Given the description of an element on the screen output the (x, y) to click on. 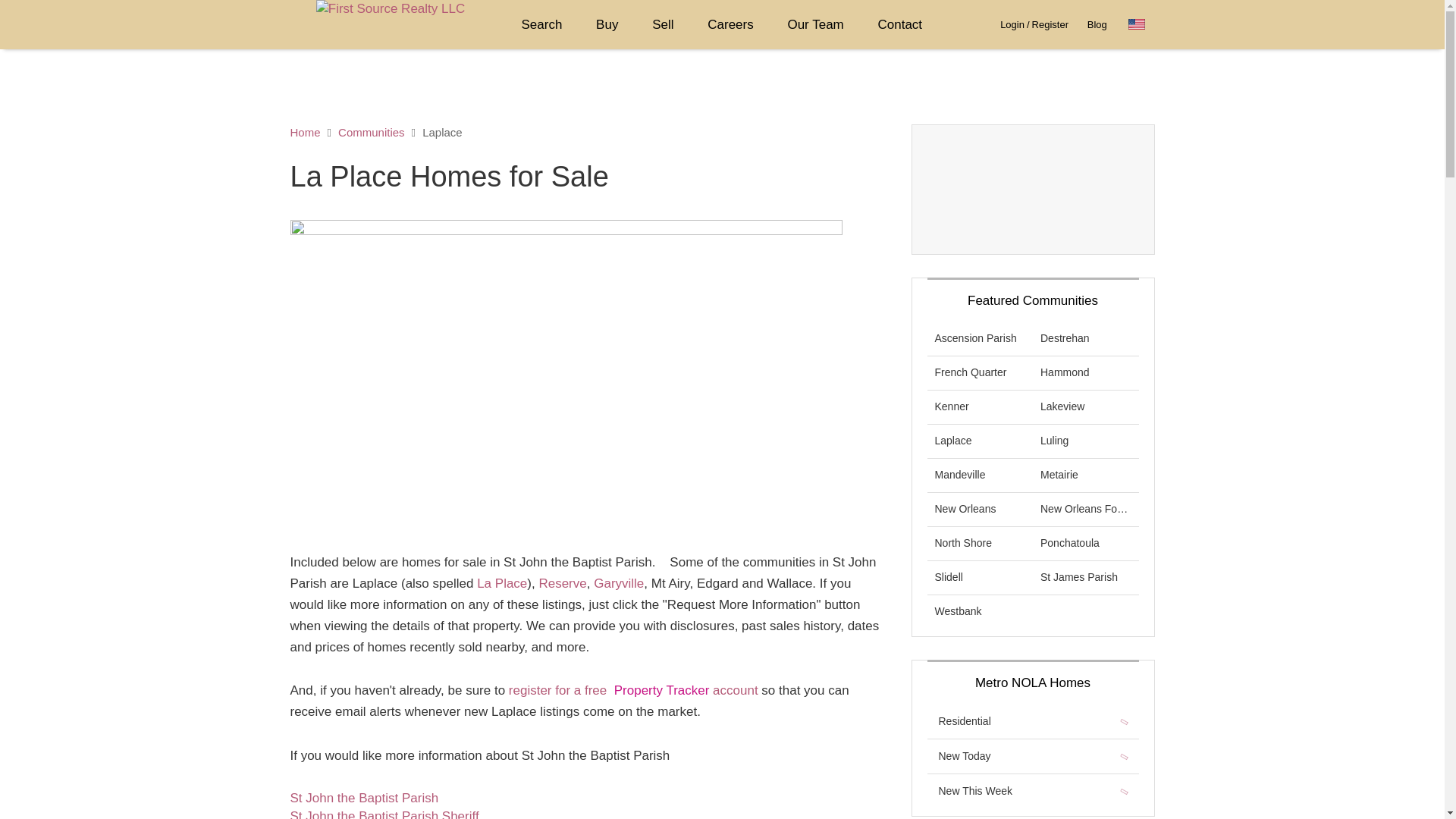
Reserve Homes for Sale (562, 583)
Homes for Sale in Garyville (618, 583)
Register (1050, 24)
Search (542, 24)
Select Language (1140, 24)
Sell (662, 24)
Buy (606, 24)
Blog (1096, 24)
